Given the description of an element on the screen output the (x, y) to click on. 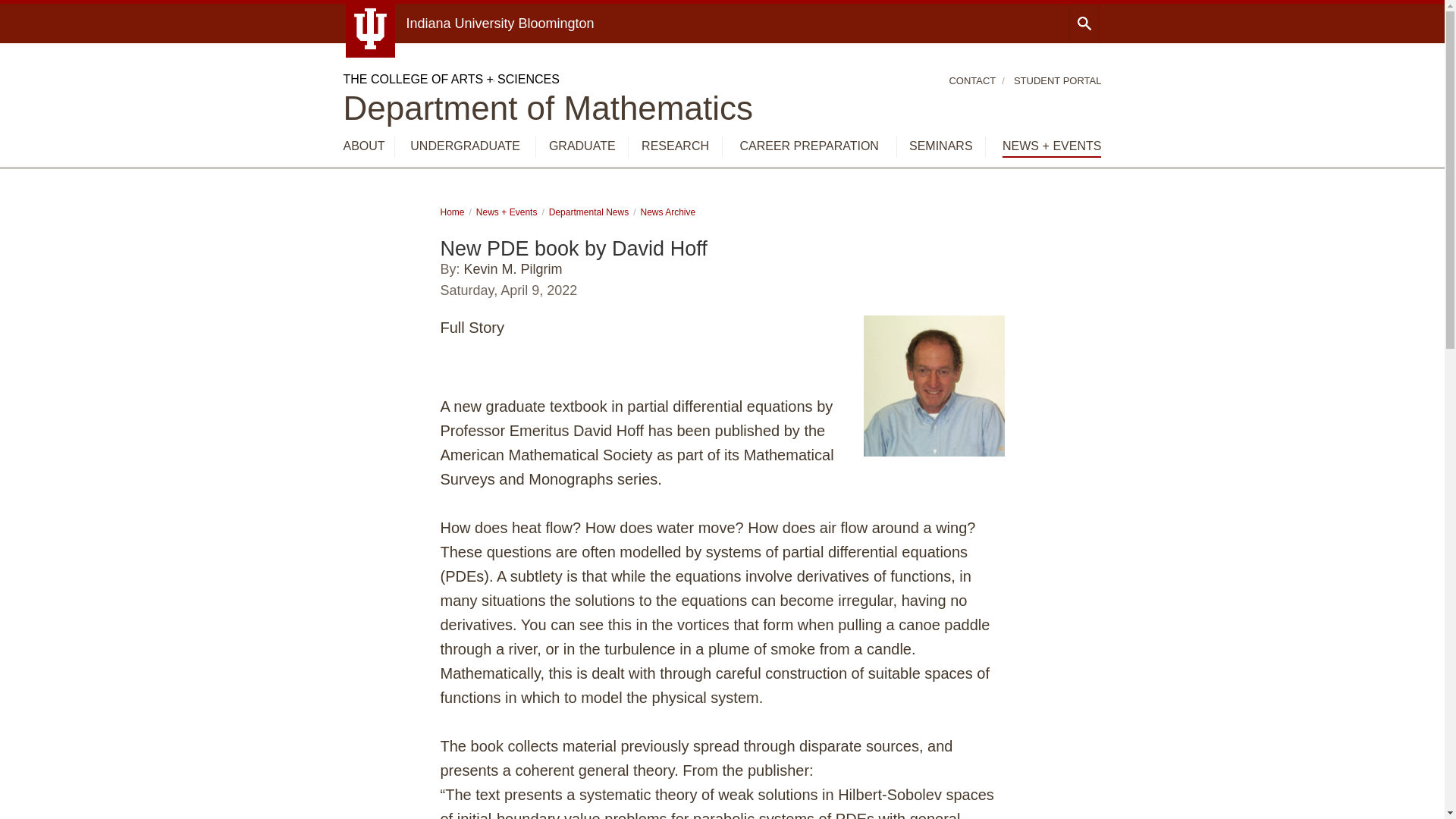
Indiana University Bloomington (500, 23)
UNDERGRADUATE (464, 146)
Indiana University Bloomington (500, 23)
GRADUATE (581, 146)
Department of Mathematics (547, 107)
ABOUT (363, 146)
